Given the description of an element on the screen output the (x, y) to click on. 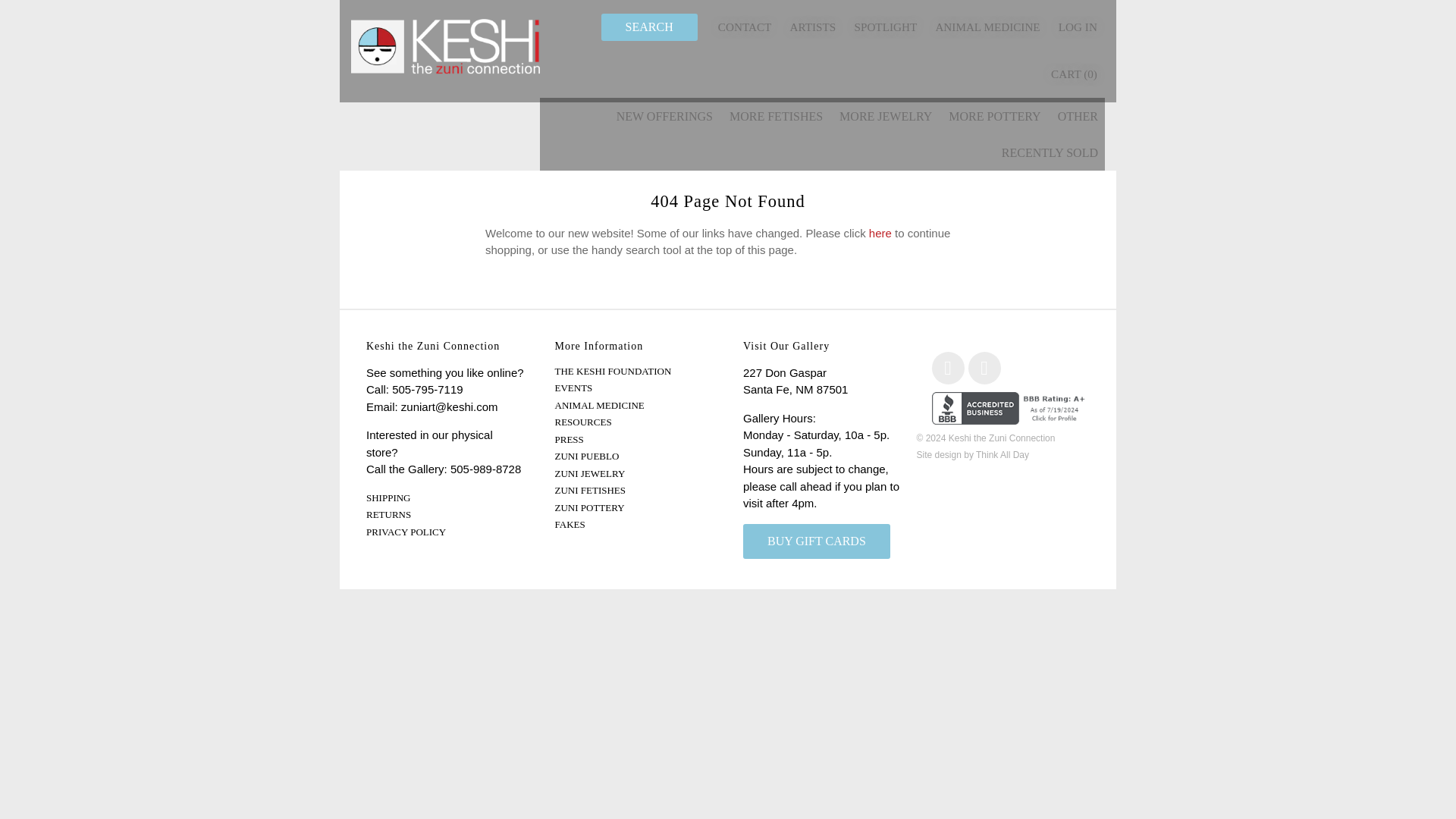
505-989-8728 (485, 468)
The Keshi Foundation (612, 370)
Zuni Fetishes (590, 490)
ARTISTS (812, 26)
Zuni Pottery (589, 507)
OTHER (1078, 115)
ANIMAL MEDICINE (986, 26)
THE KESHI FOUNDATION (612, 370)
Shipping (388, 497)
Privacy Policy (405, 531)
MORE POTTERY (994, 115)
MORE FETISHES (775, 115)
RECENTLY SOLD (1049, 152)
ZUNI POTTERY (589, 507)
NEW OFFERINGS (664, 115)
